Given the description of an element on the screen output the (x, y) to click on. 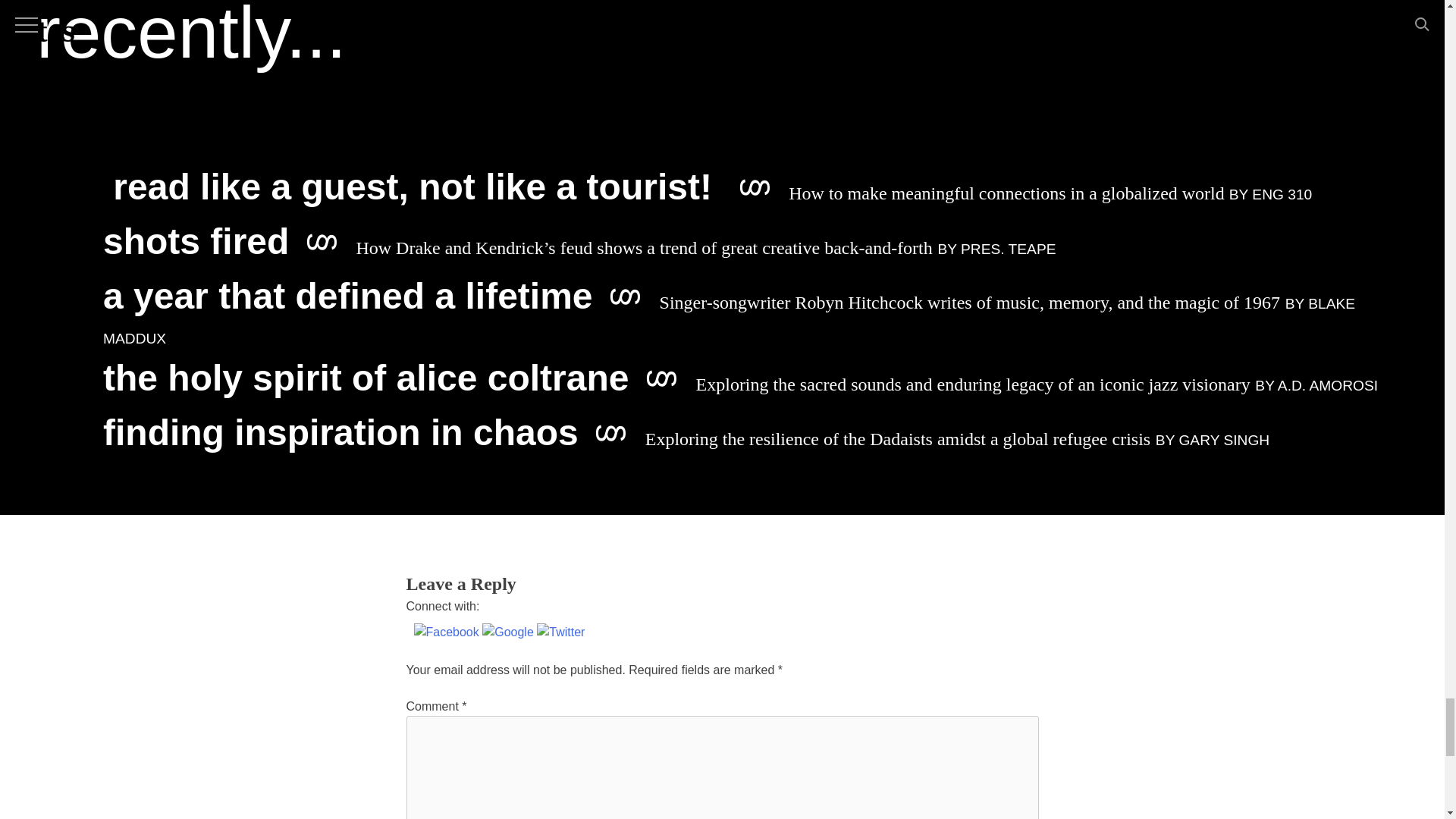
Permanent Link to The Holy Spirit of Alice Coltrane (740, 383)
Permanent Link to A Year that Defined a Lifetime (729, 319)
Permanent Link to Shots Fired (580, 247)
